Given the description of an element on the screen output the (x, y) to click on. 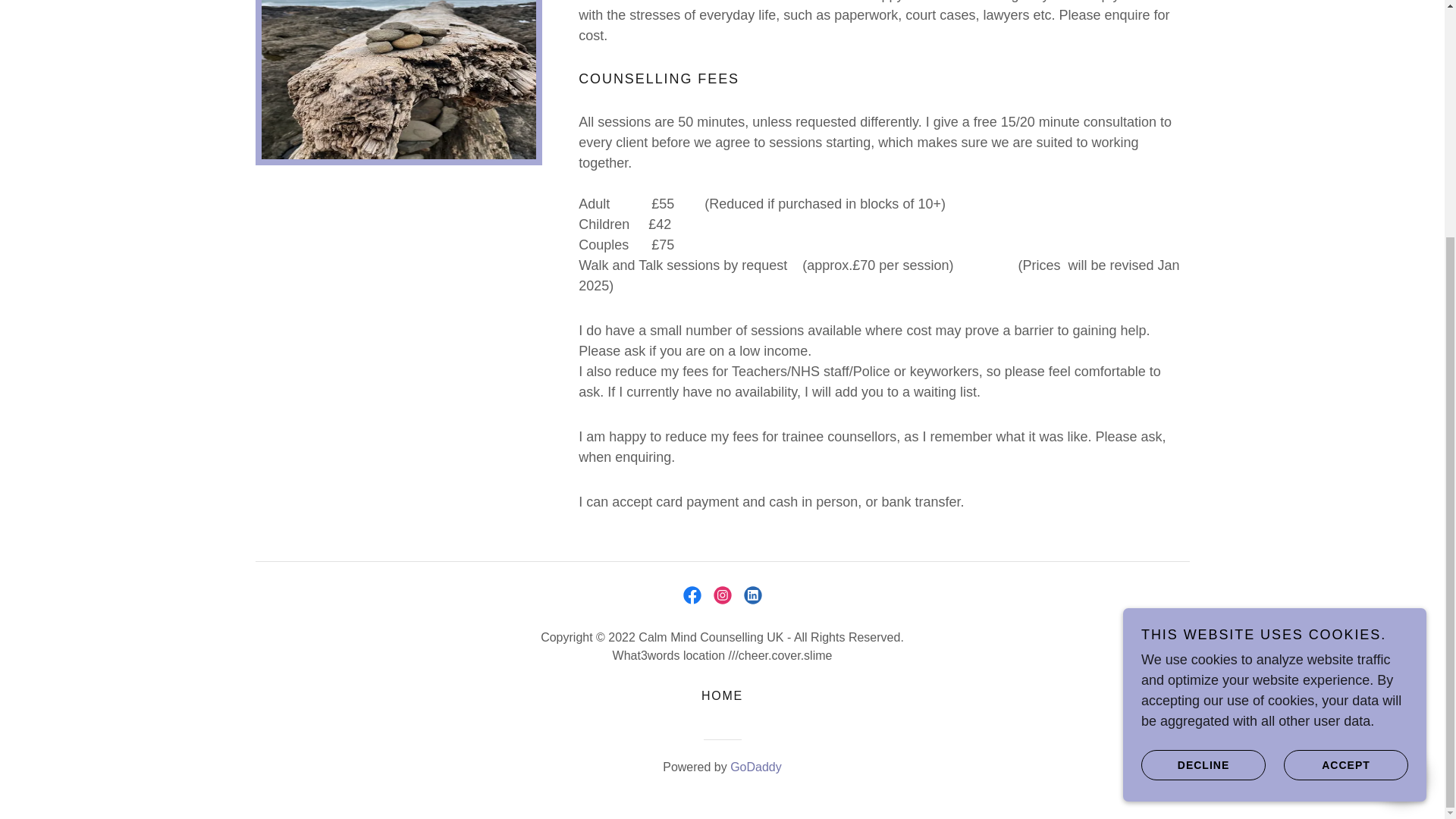
HOME (722, 696)
GoDaddy (755, 766)
ACCEPT (1345, 440)
DECLINE (1203, 440)
